Given the description of an element on the screen output the (x, y) to click on. 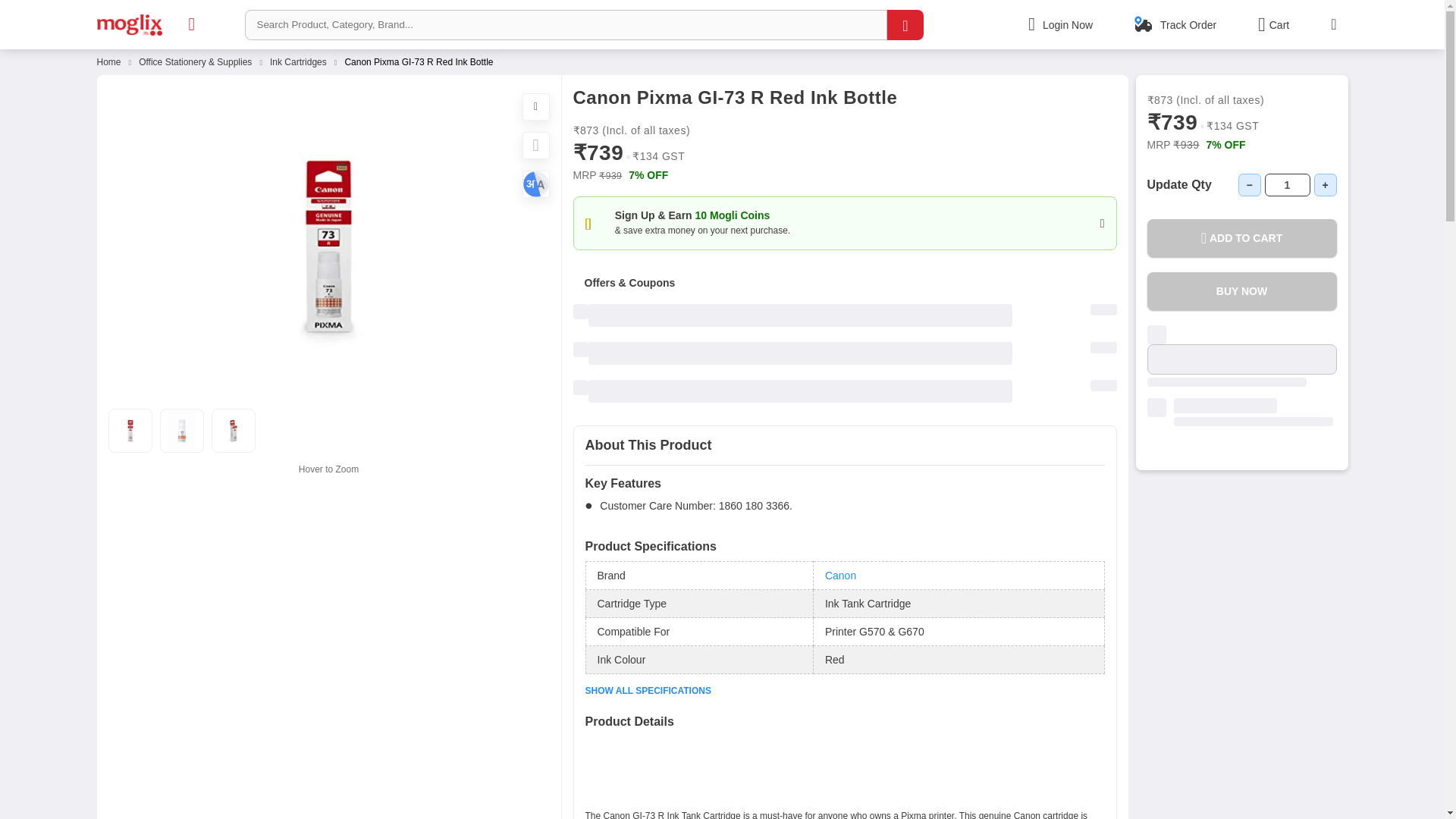
Canon (840, 575)
Ink Cartridges (297, 61)
BUY NOW (1241, 290)
  ADD TO CART (1241, 238)
Home (108, 61)
Track Order (1184, 24)
Canon Pixma GI-73 R Red Ink Bottle (418, 61)
1 (1287, 184)
